Given the description of an element on the screen output the (x, y) to click on. 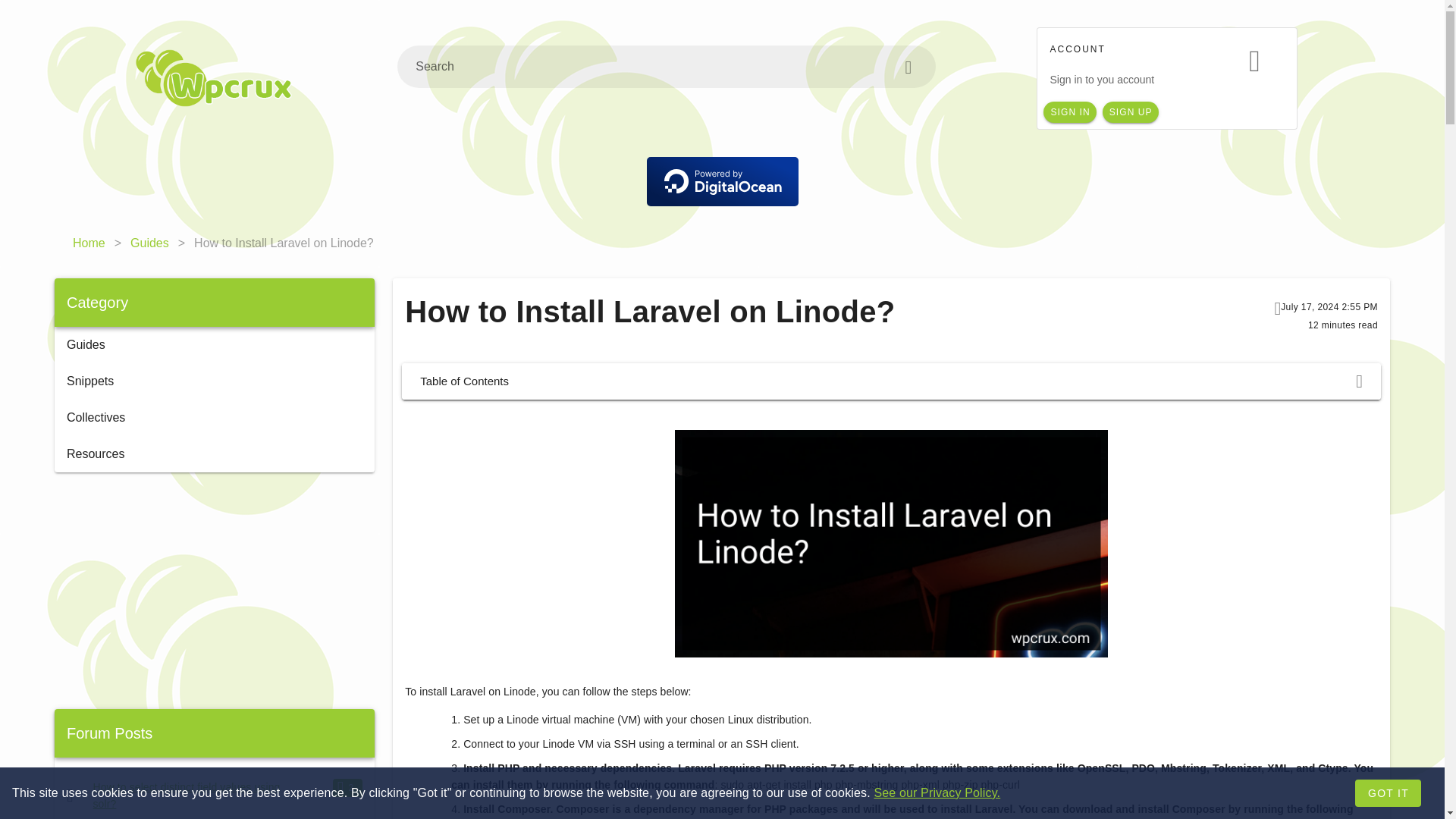
Guides (149, 243)
How to select distinct field values using solr? (187, 795)
How to select distinct field values using solr? (187, 795)
SIGN UP (1130, 111)
Guides (214, 344)
Table of Contents (890, 381)
Resources (214, 453)
How to Install Laravel on Linode? (283, 243)
SIGN IN (1069, 111)
Collectives (214, 417)
Advertisement (214, 590)
Home (88, 243)
Snippets (214, 381)
